Given the description of an element on the screen output the (x, y) to click on. 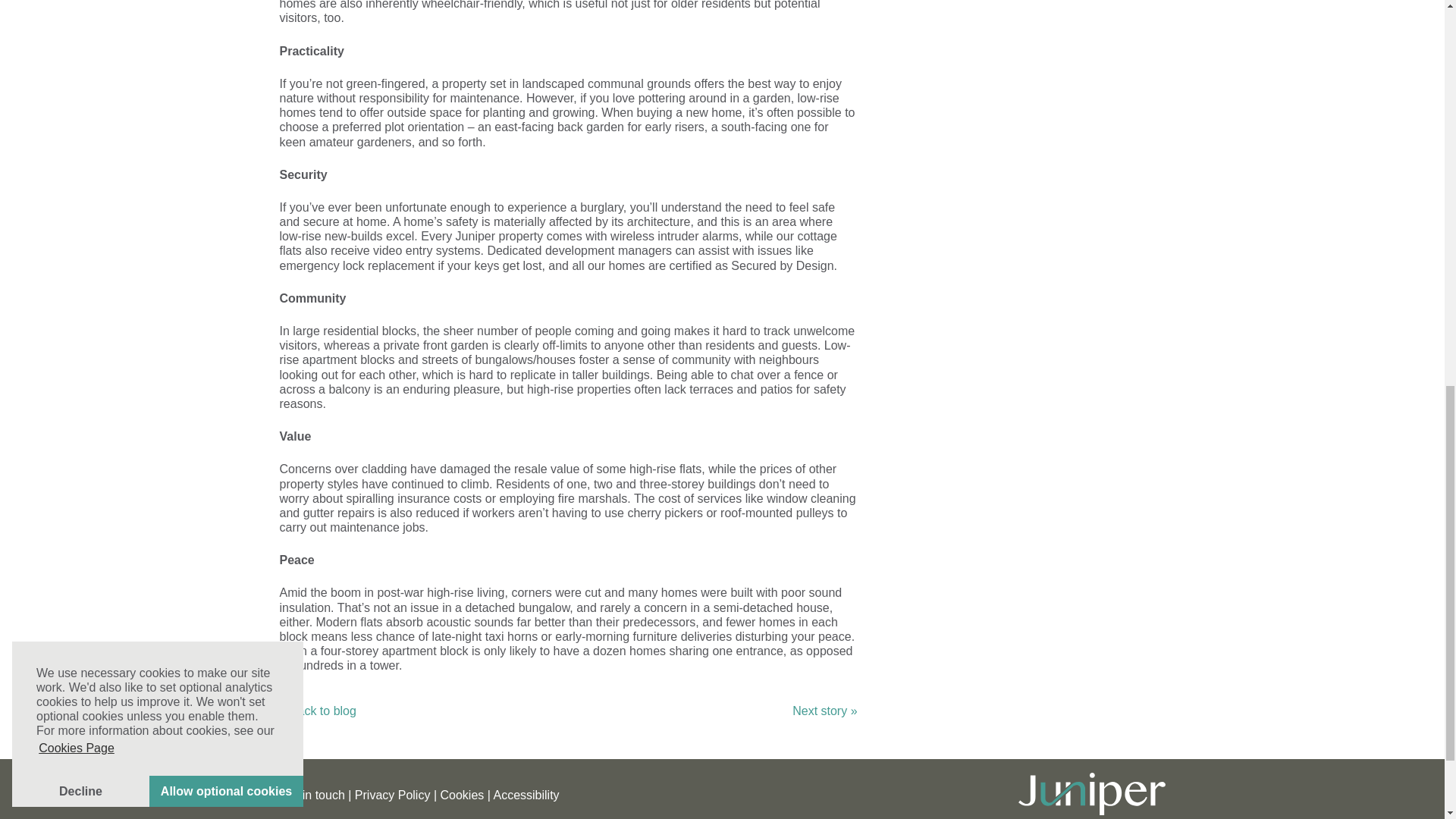
Accessibility (526, 794)
Get in touch (311, 794)
Privacy Policy (392, 794)
Cookies (461, 794)
